Given the description of an element on the screen output the (x, y) to click on. 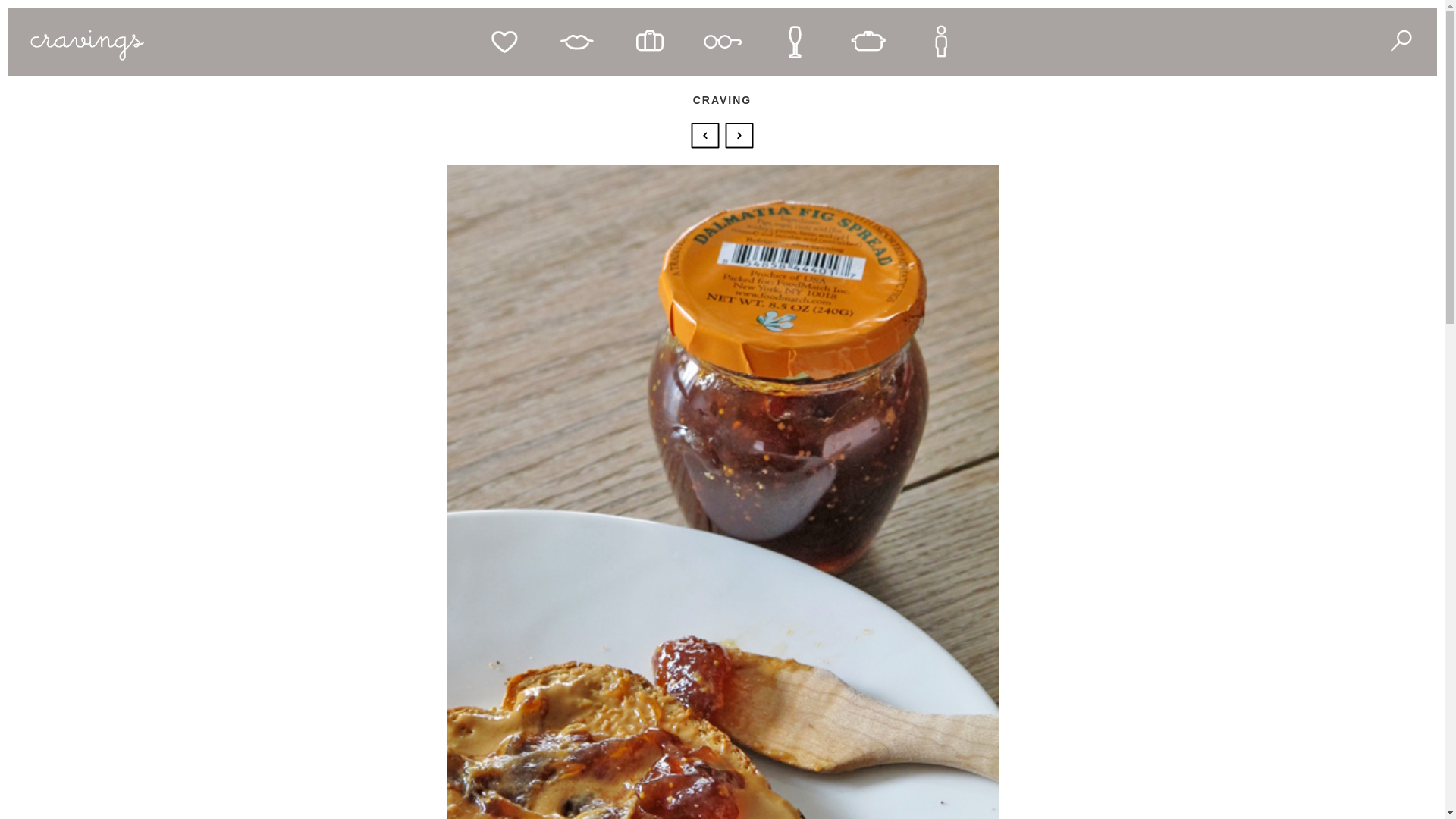
Previous: Finnish Ruis Bread Mini Cranberry Loaf  (706, 133)
Next: Burrata and Gin Pairing Board (738, 133)
